Given the description of an element on the screen output the (x, y) to click on. 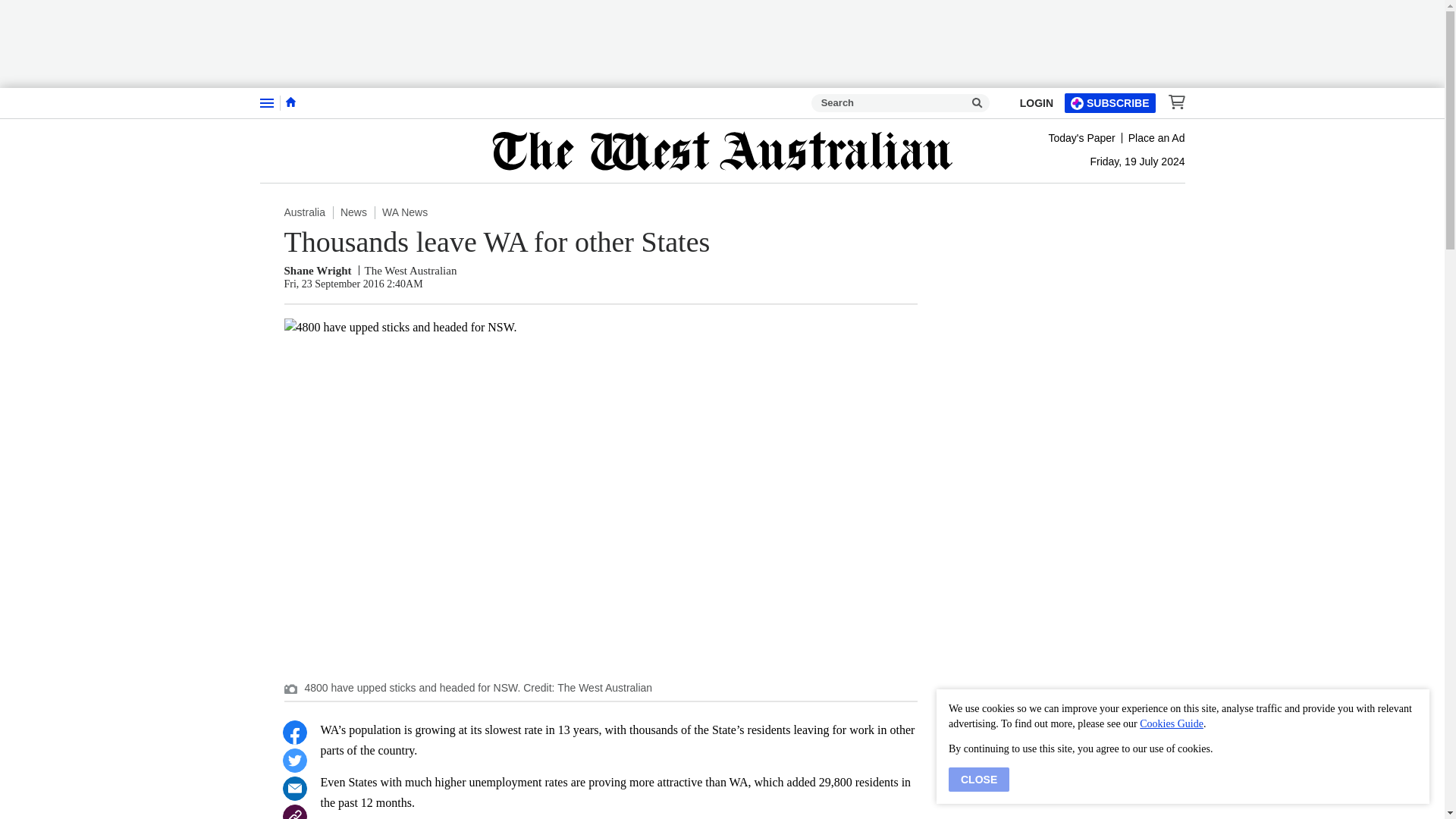
Empty Cart Icon (1172, 102)
Home (290, 102)
Please enter a search term. (977, 102)
